Given the description of an element on the screen output the (x, y) to click on. 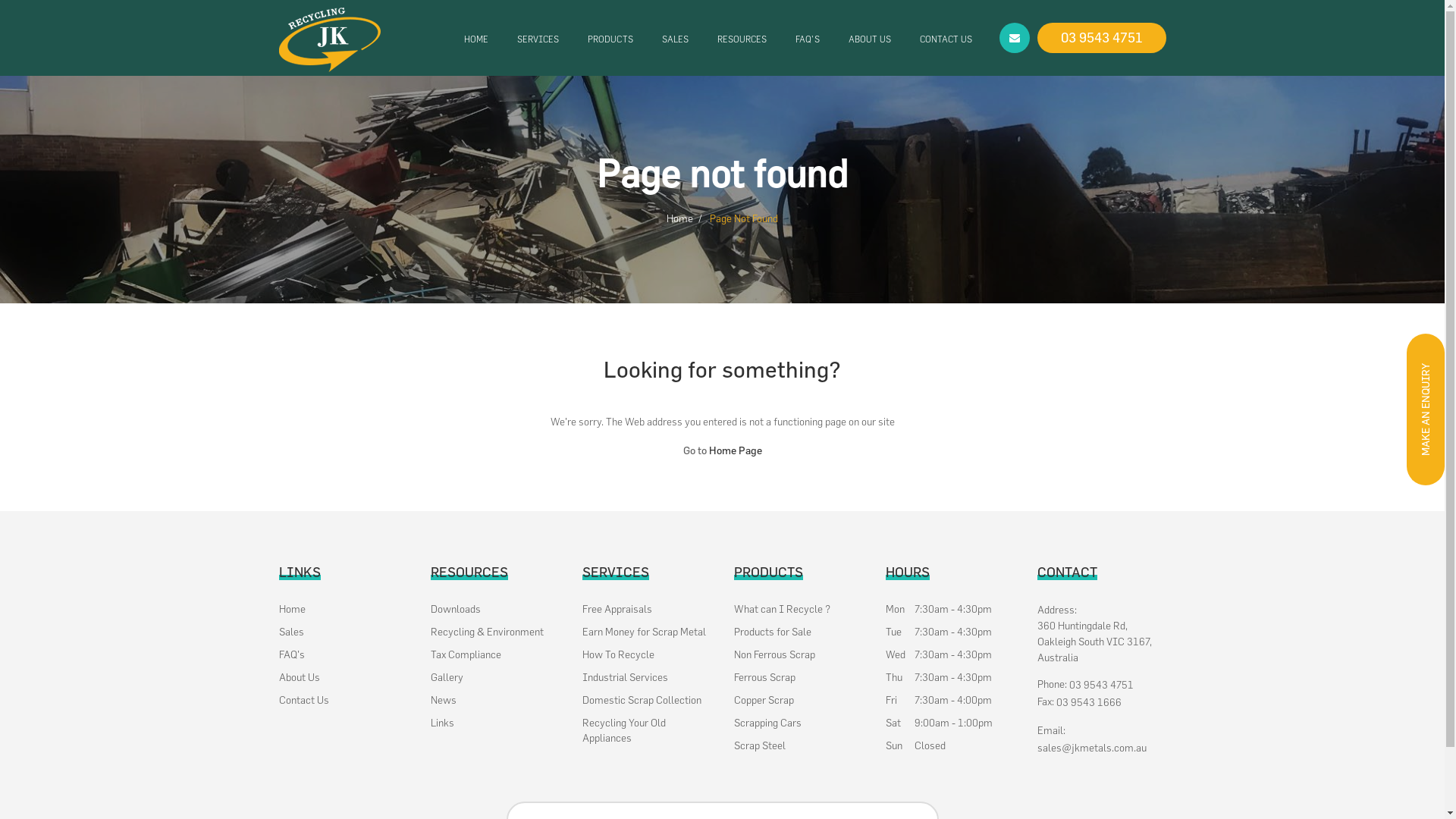
What can I Recycle ? Element type: text (782, 608)
Scrapping Cars Element type: text (767, 722)
News Element type: text (443, 699)
Sales Element type: text (291, 631)
sales@jkmetals.com.au Element type: hover (1014, 37)
CONTACT US Element type: text (945, 39)
SALES Element type: text (675, 39)
Industrial Services Element type: text (625, 676)
Contact Us Element type: text (304, 699)
SERVICES Element type: text (537, 39)
Domestic Scrap Collection Element type: text (641, 699)
Downloads Element type: text (455, 608)
sales@jkmetals.com.au Element type: text (1091, 747)
ABOUT US Element type: text (869, 39)
HOME Element type: text (476, 39)
Tax Compliance Element type: text (465, 654)
Home Page Element type: text (734, 449)
03 9543 4751 Element type: text (1101, 37)
03 9543 4751 Element type: text (1101, 684)
About Us Element type: text (299, 676)
Scrap Steel Element type: text (759, 745)
PRODUCTS Element type: text (609, 39)
Products for Sale Element type: text (772, 631)
Home Element type: text (292, 608)
Recycling Your Old Appliances Element type: text (646, 730)
Copper Scrap Element type: text (763, 699)
Ferrous Scrap Element type: text (764, 676)
How To Recycle Element type: text (618, 654)
Home Element type: text (679, 218)
RESOURCES Element type: text (741, 39)
Gallery Element type: text (446, 676)
Links Element type: text (442, 722)
Recycling & Environment Element type: text (486, 631)
Earn Money for Scrap Metal Element type: text (644, 631)
Free Appraisals Element type: text (617, 608)
Non Ferrous Scrap Element type: text (774, 654)
Scrap Metal Recycling Melbourne Element type: hover (329, 37)
